Given the description of an element on the screen output the (x, y) to click on. 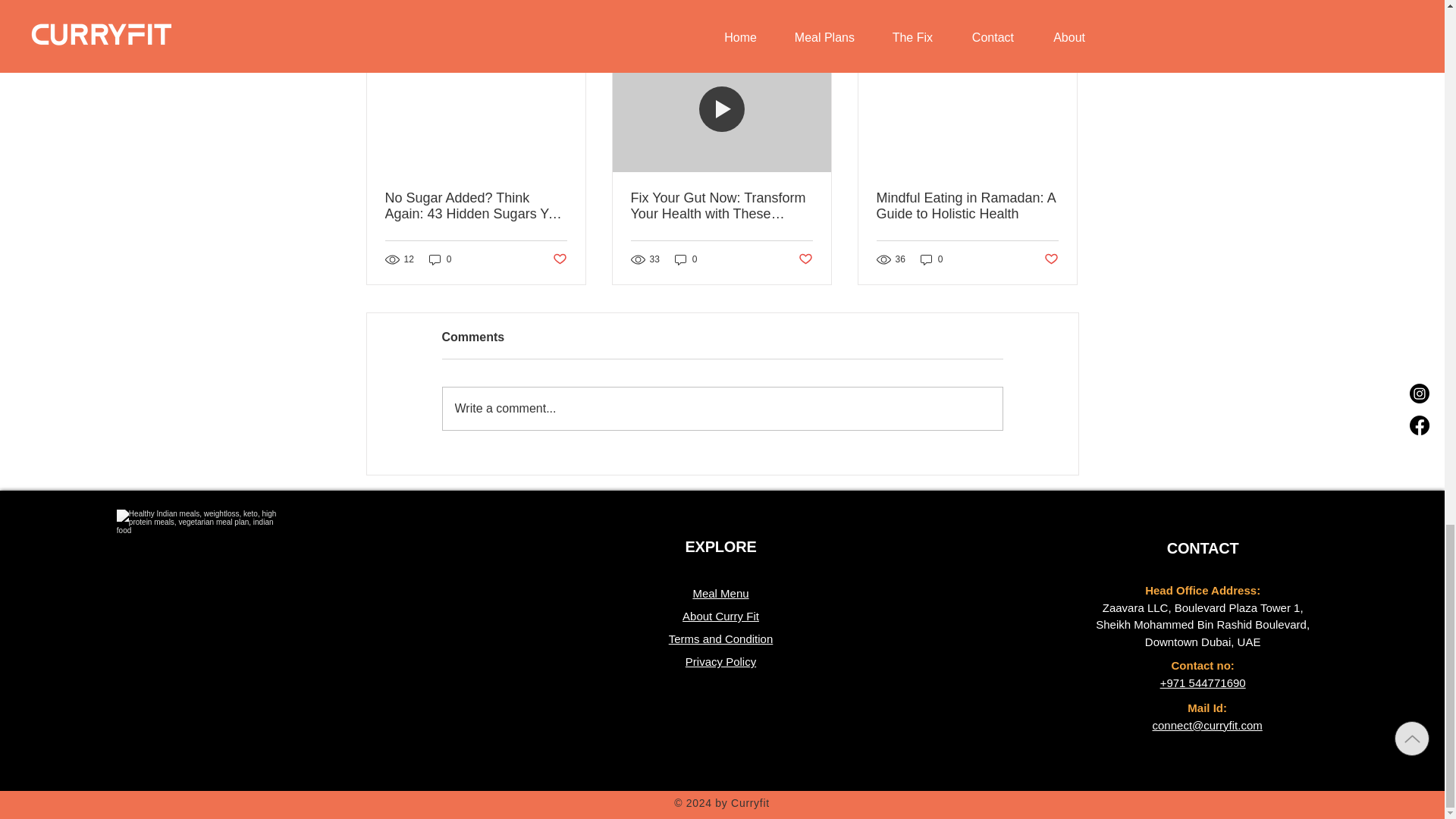
0 (440, 259)
About Curry Fit (720, 615)
Privacy Policy (720, 661)
Post not marked as liked (1050, 259)
Mindful Eating in Ramadan: A Guide to Holistic Health (967, 205)
Post not marked as liked (558, 259)
See All (1061, 22)
Meal Menu (720, 593)
Post not marked as liked (804, 259)
Fix Your Gut Now: Transform Your Health with These Insights (721, 205)
0 (685, 259)
Terms and Condition (720, 638)
Write a comment... (722, 408)
0 (931, 259)
